Given the description of an element on the screen output the (x, y) to click on. 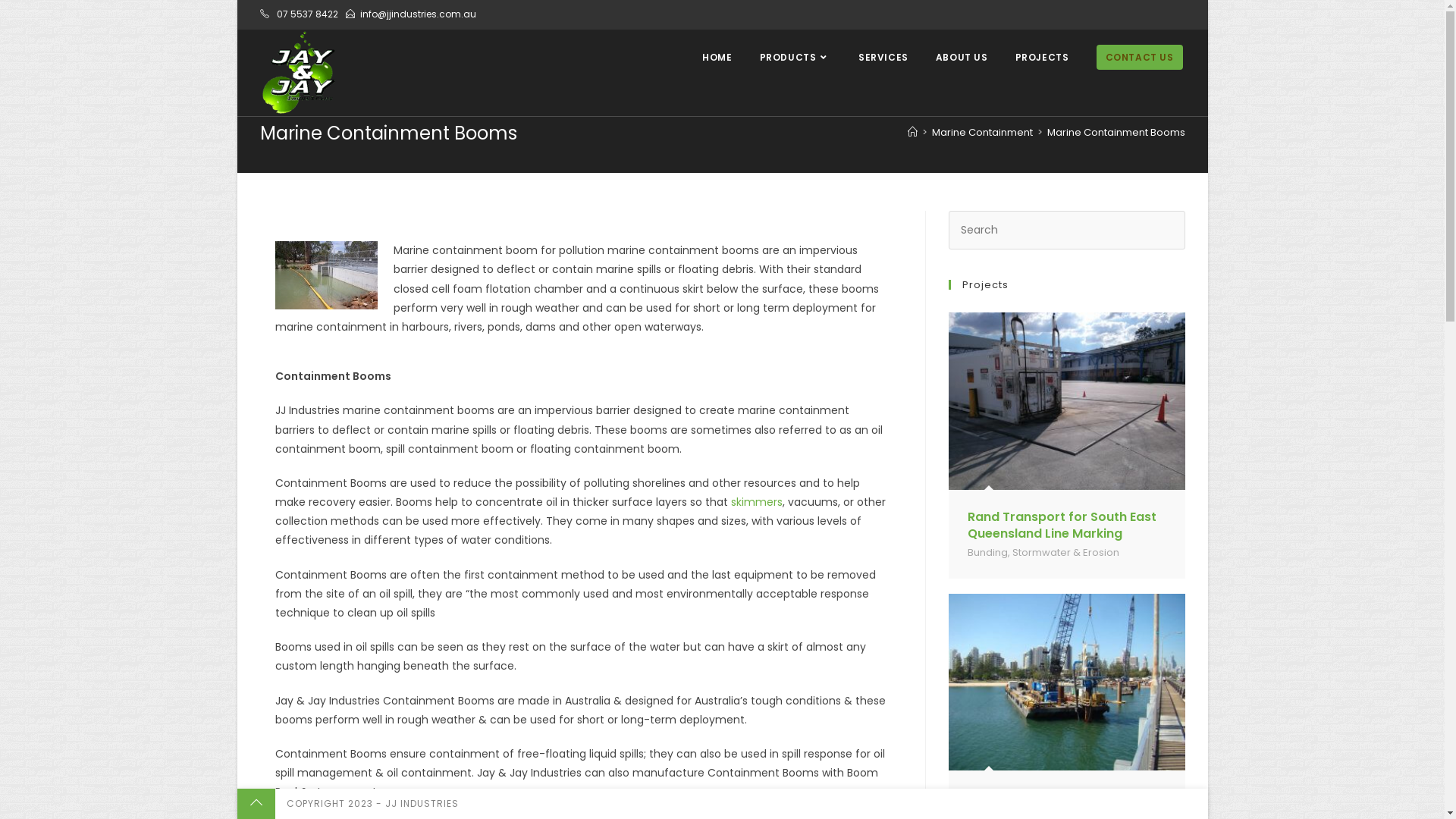
skimmers Element type: text (756, 501)
HOME Element type: text (716, 57)
SERVICES Element type: text (883, 57)
ABOUT US Element type: text (961, 57)
PRODUCTS Element type: text (795, 57)
info@jjindustries.com.au Element type: text (417, 13)
PROJECTS Element type: text (1041, 57)
CONTACT US Element type: text (1139, 57)
Marine Containment Booms Element type: text (1115, 132)
Rand Transport for South East Queensland Line Marking Element type: text (1061, 525)
Stormwater & Erosion Element type: text (1065, 552)
Gold Coast Light Rail Stage One Element type: text (1066, 797)
Bunding Element type: text (987, 552)
Marine Containment Element type: text (981, 132)
